Given the description of an element on the screen output the (x, y) to click on. 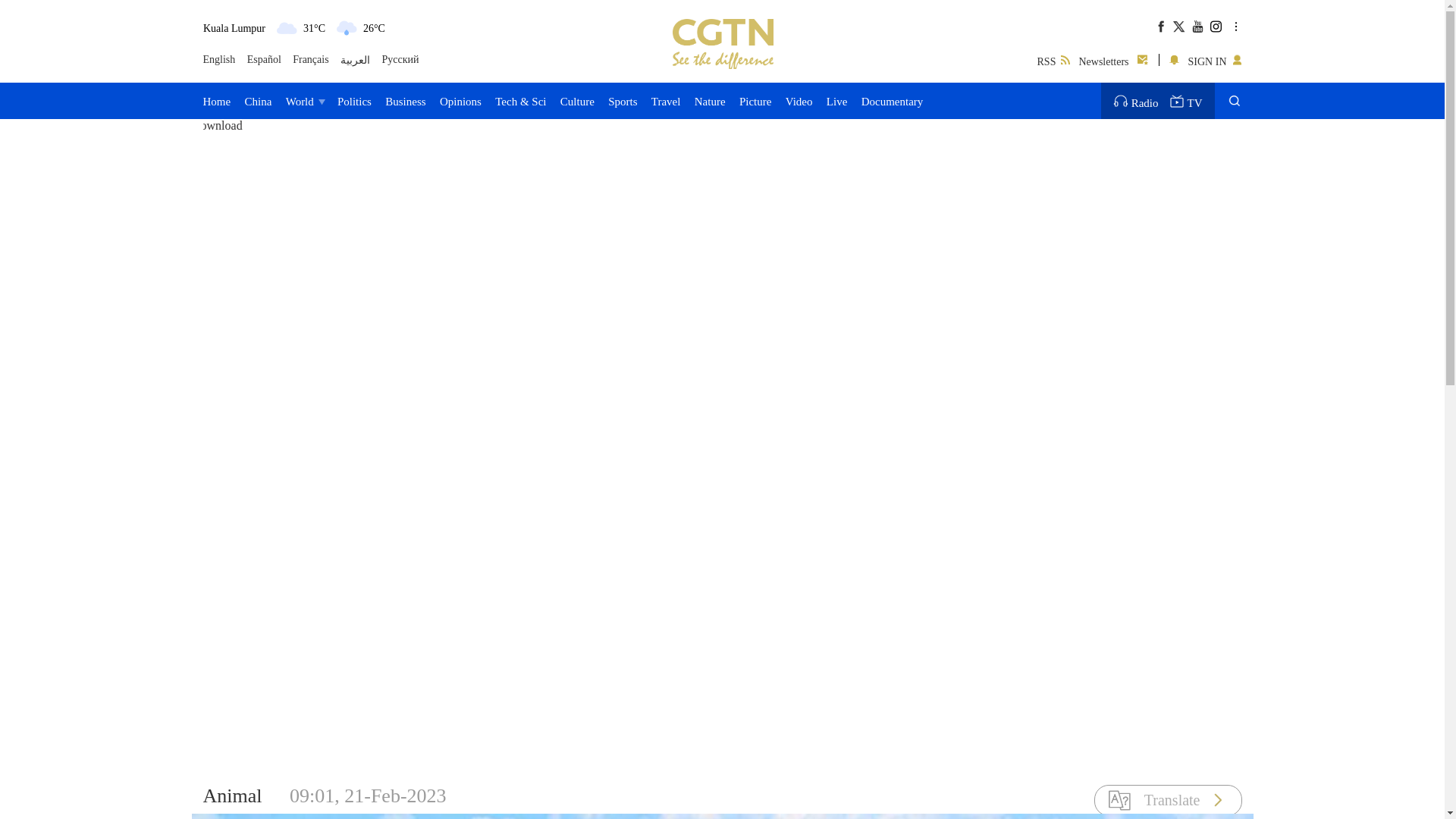
World (304, 100)
Picture (755, 100)
Newsletters (1114, 59)
Politics (354, 100)
RSS (1052, 59)
English (219, 60)
Overcast (286, 27)
Light rain (345, 27)
Opinions (460, 100)
Culture (577, 100)
Business (405, 100)
